Given the description of an element on the screen output the (x, y) to click on. 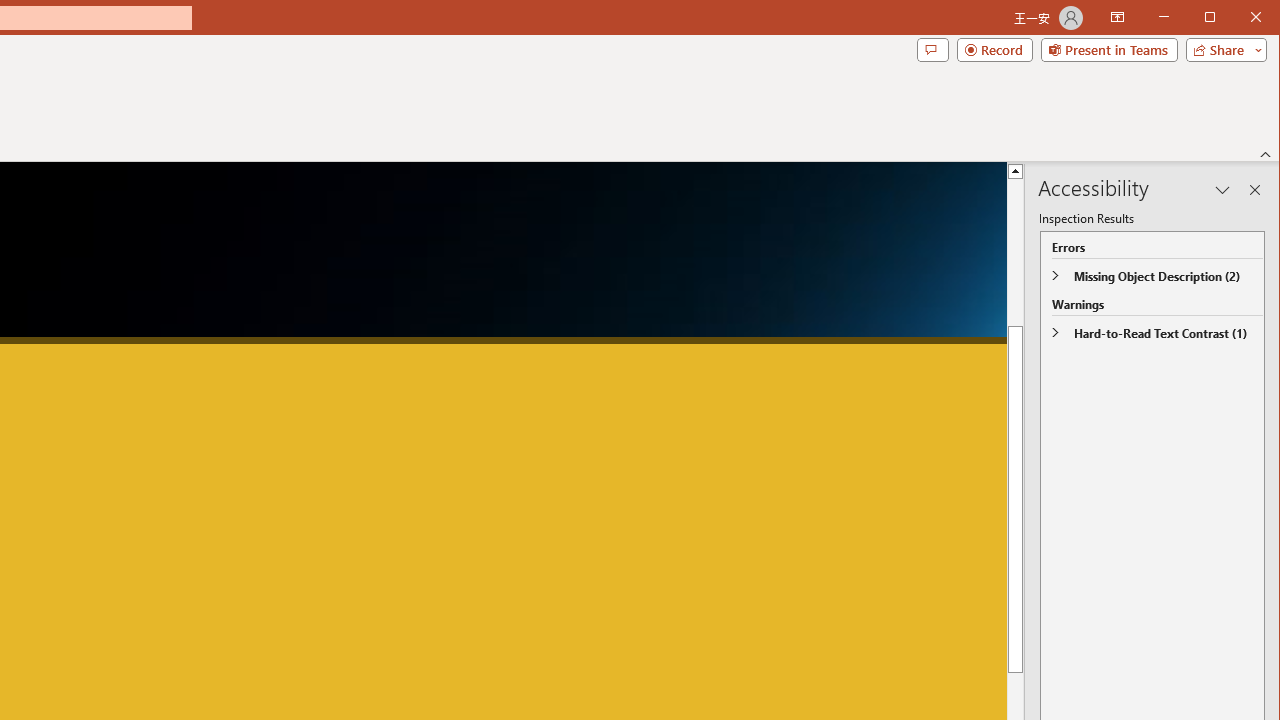
Page up (1015, 311)
Maximize (1238, 18)
